Given the description of an element on the screen output the (x, y) to click on. 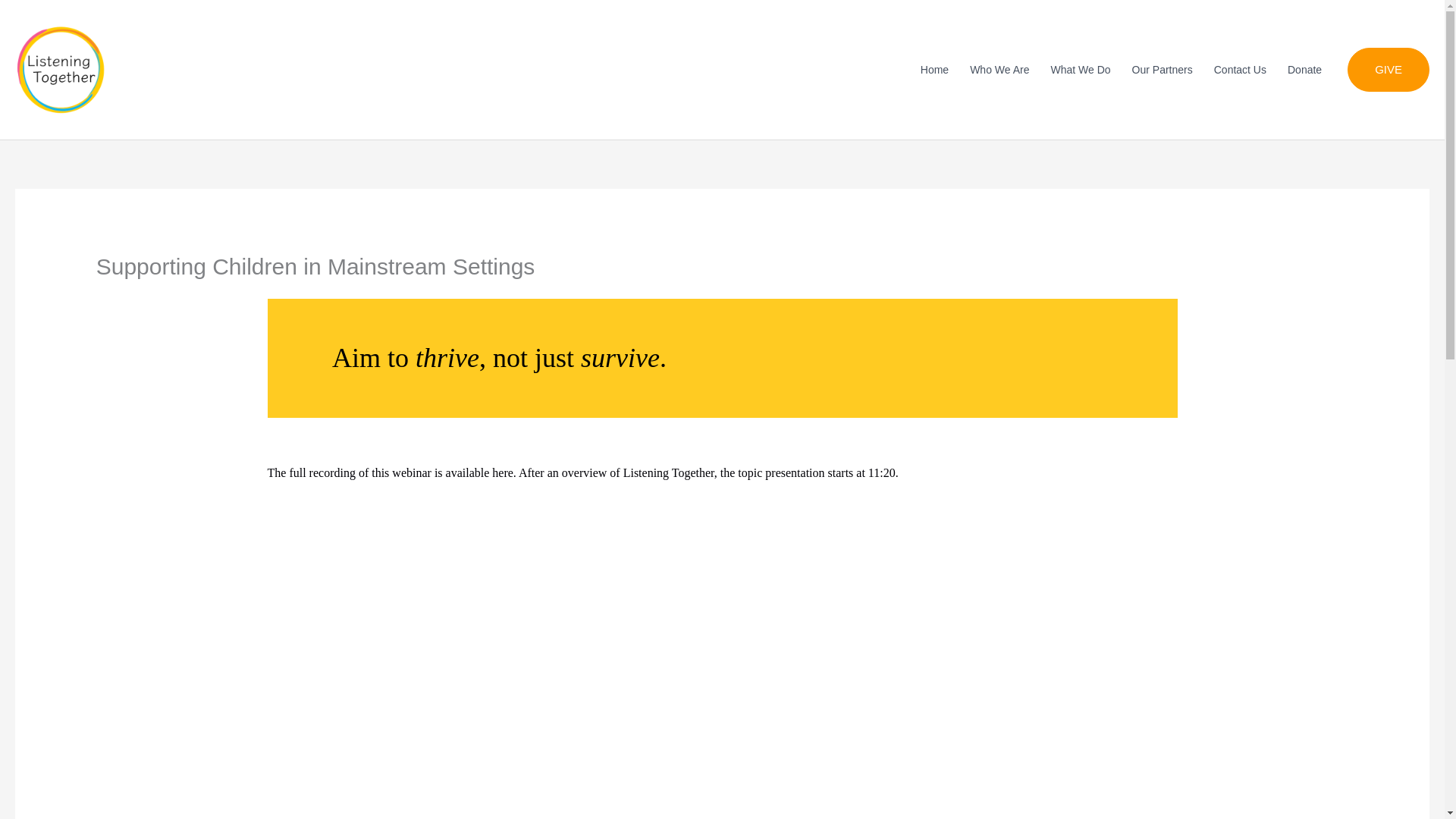
Home (934, 69)
Who We Are (999, 69)
What We Do (1080, 69)
Our Partners (1162, 69)
Contact Us (1240, 69)
Donate (1304, 69)
GIVE (1388, 69)
